Given the description of an element on the screen output the (x, y) to click on. 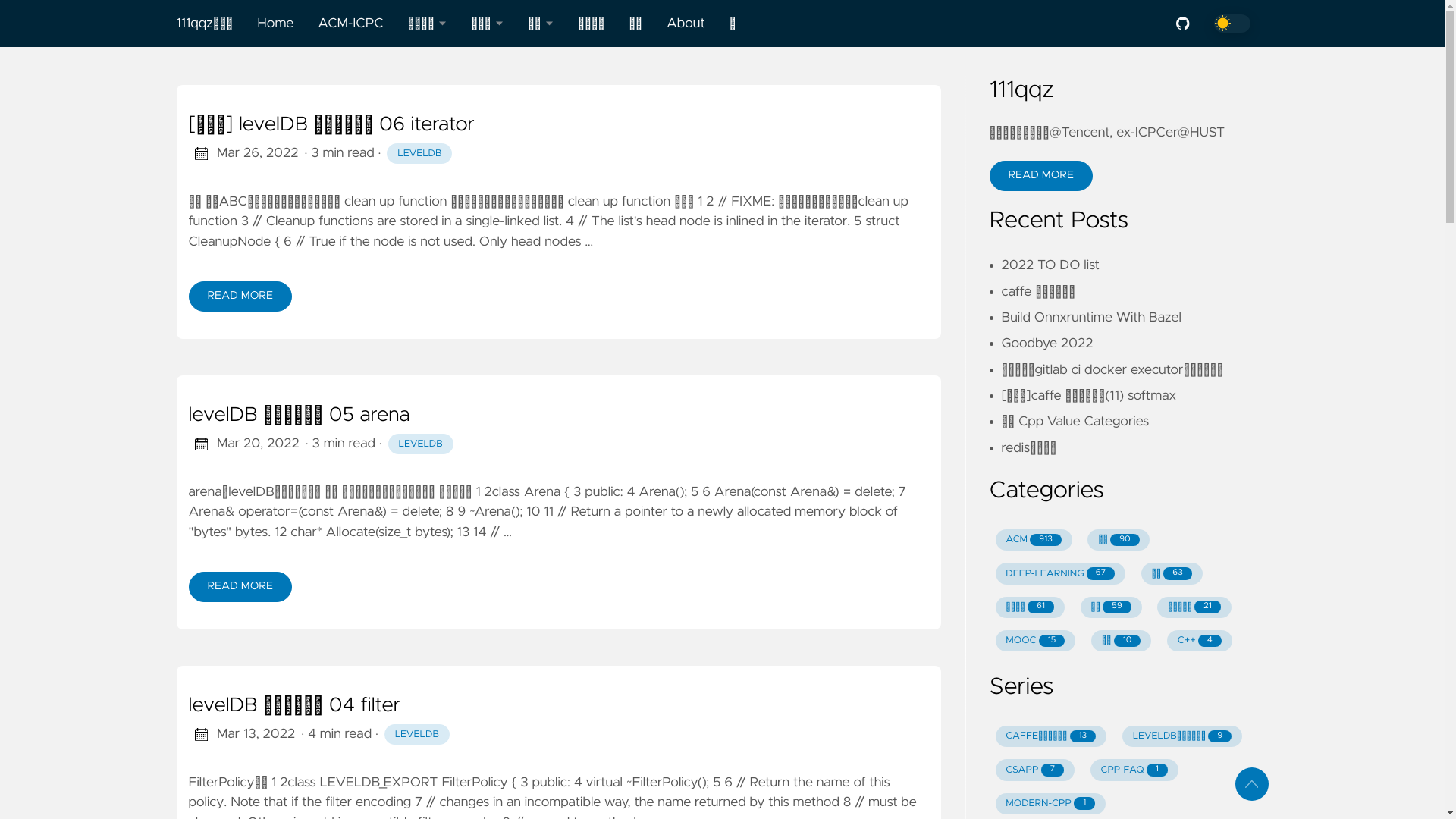
LEVELDB Element type: text (416, 734)
READ MORE Element type: text (239, 586)
LEVELDB Element type: text (420, 444)
CSAPP
7 Element type: text (1033, 769)
C++
4 Element type: text (1199, 640)
MOOC
15 Element type: text (1034, 640)
DEEP-LEARNING
67 Element type: text (1059, 572)
Goodbye 2022 Element type: text (1046, 343)
ACM-ICPC Element type: text (350, 23)
Home Element type: text (274, 23)
ACM
913 Element type: text (1032, 539)
Build Onnxruntime With Bazel Element type: text (1090, 317)
LEVELDB Element type: text (418, 153)
READ MORE Element type: text (239, 296)
MODERN-CPP
1 Element type: text (1049, 803)
CPP-FAQ
1 Element type: text (1134, 769)
READ MORE Element type: text (1040, 175)
2022 TO DO list Element type: text (1049, 265)
About Element type: text (685, 23)
